Given the description of an element on the screen output the (x, y) to click on. 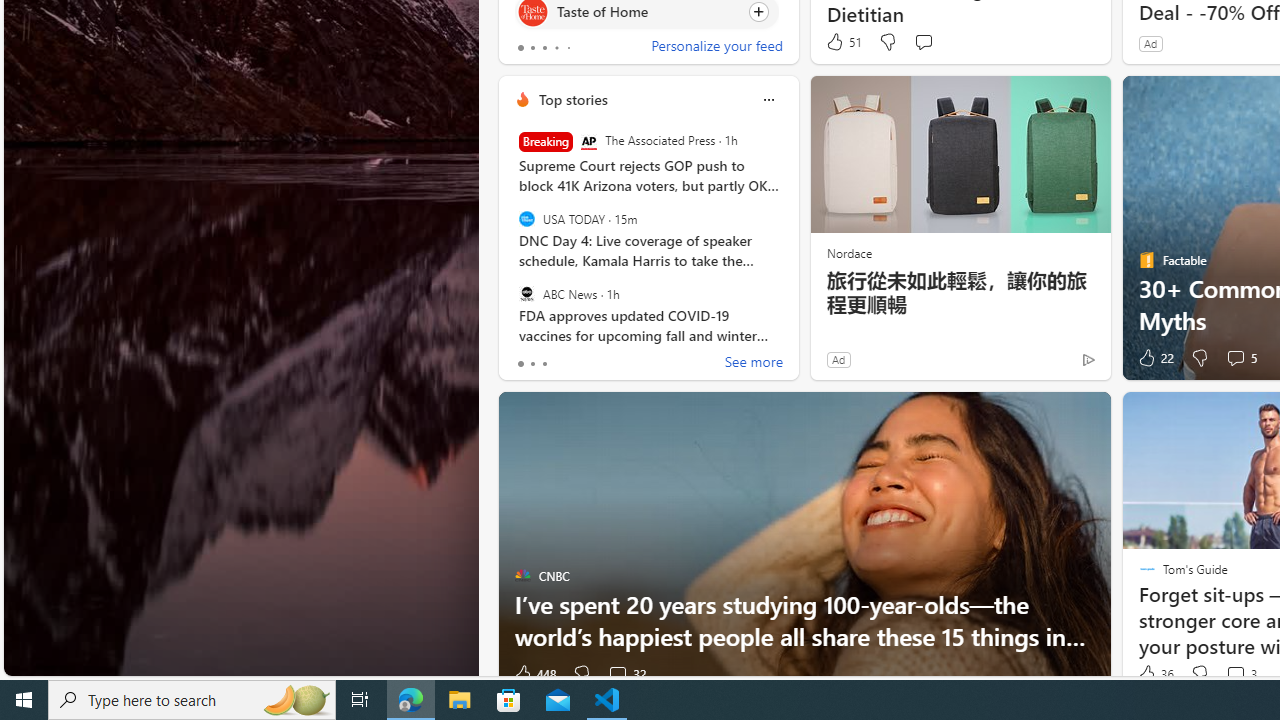
Class: icon-img (768, 100)
Personalize your feed (716, 47)
tab-1 (532, 363)
22 Like (1154, 358)
